Given the description of an element on the screen output the (x, y) to click on. 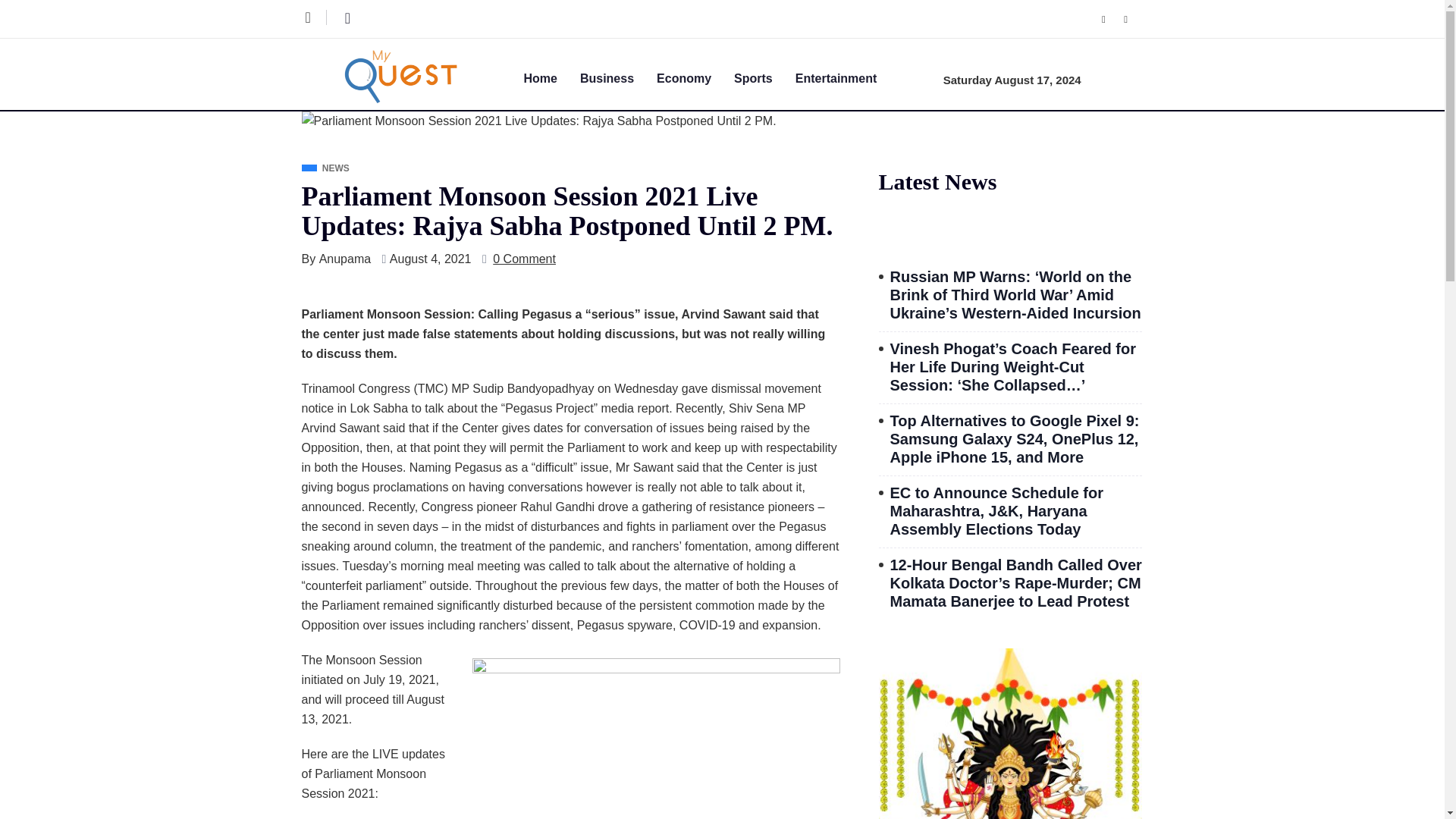
Home (550, 78)
Business (617, 78)
Economy (694, 78)
0 Comment (524, 259)
Sports (763, 78)
NEWS (325, 168)
Entertainment (846, 78)
Anupama (344, 259)
